Given the description of an element on the screen output the (x, y) to click on. 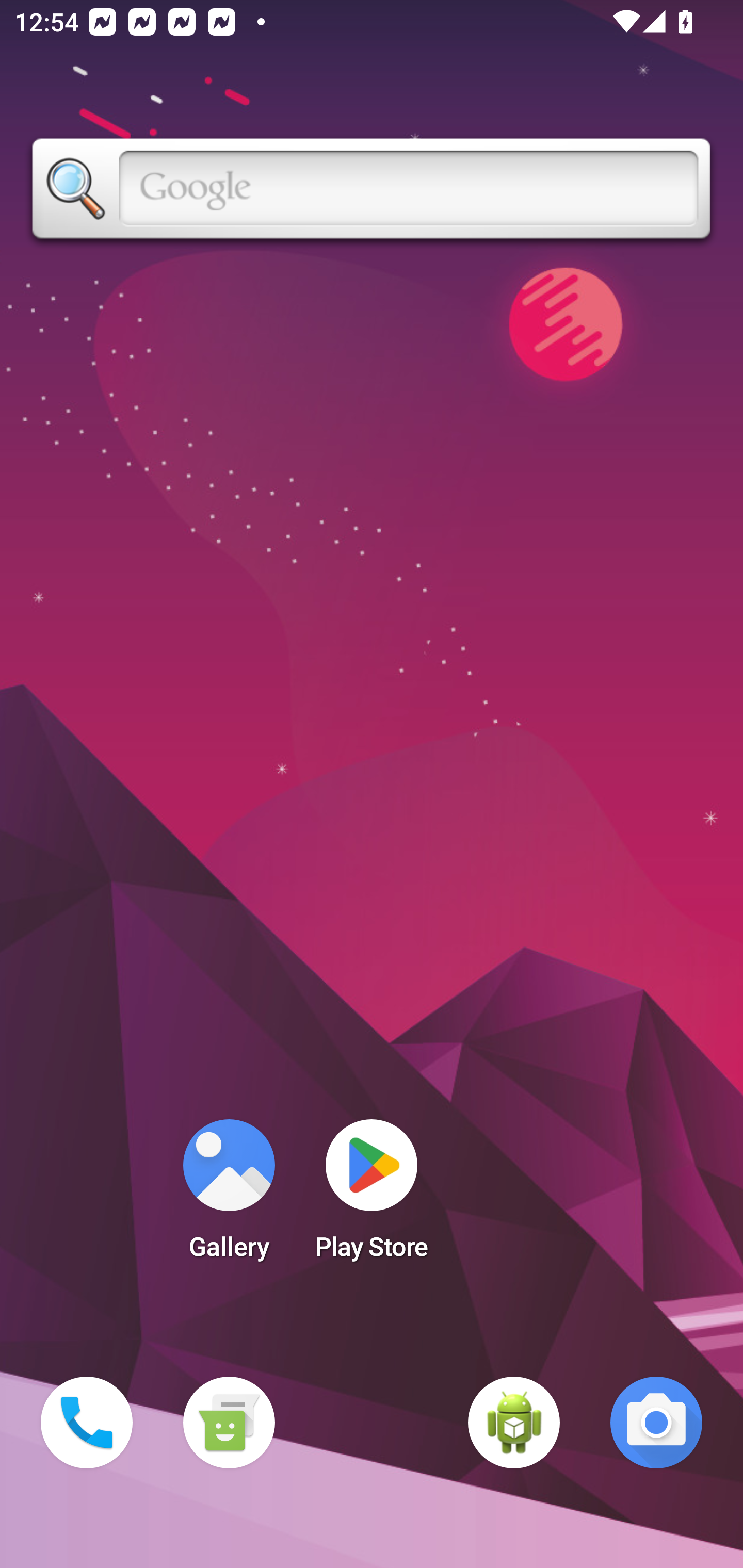
Gallery (228, 1195)
Play Store (371, 1195)
Phone (86, 1422)
Messaging (228, 1422)
WebView Browser Tester (513, 1422)
Camera (656, 1422)
